Given the description of an element on the screen output the (x, y) to click on. 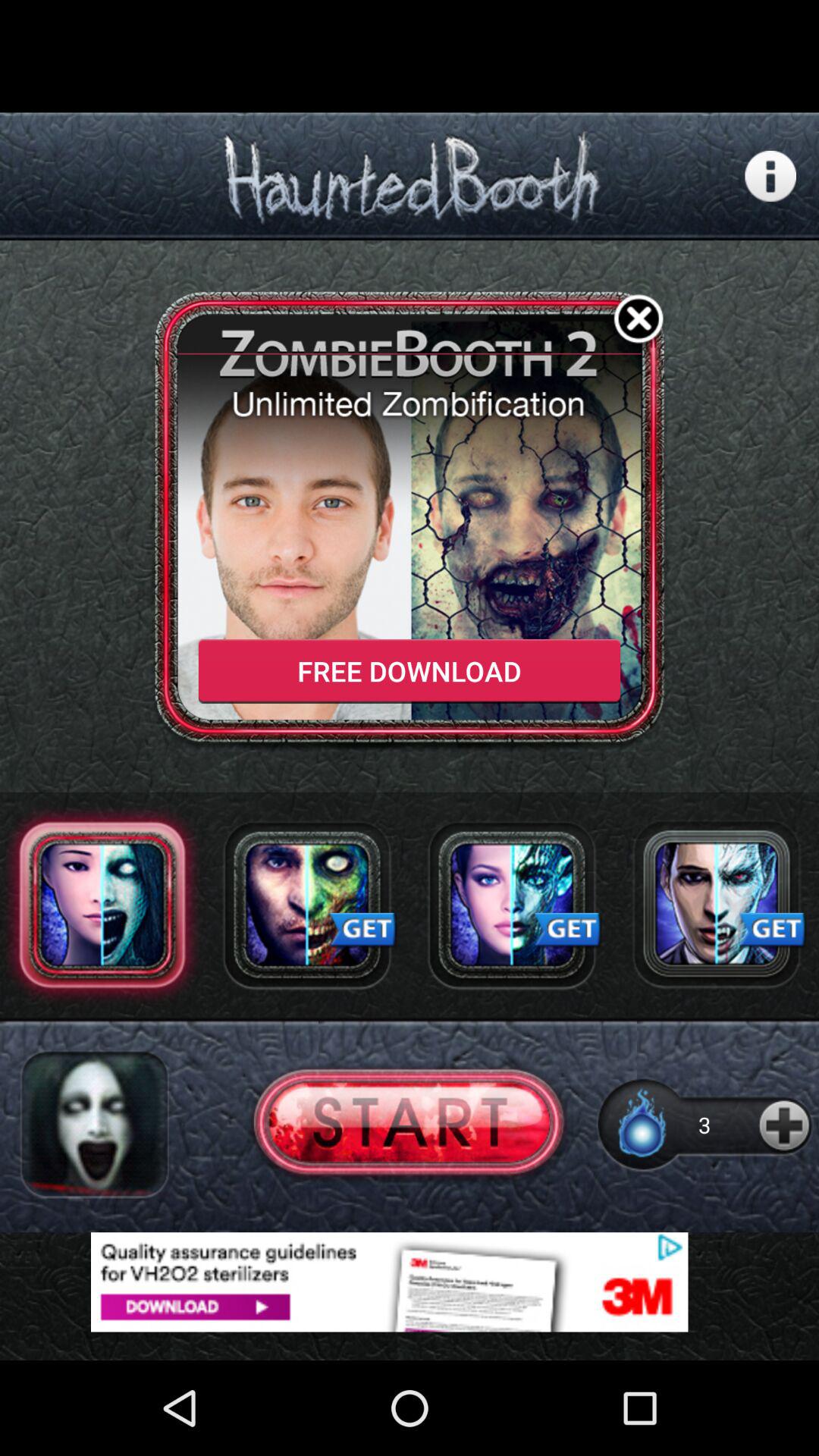
advertisement bar (409, 1282)
